Given the description of an element on the screen output the (x, y) to click on. 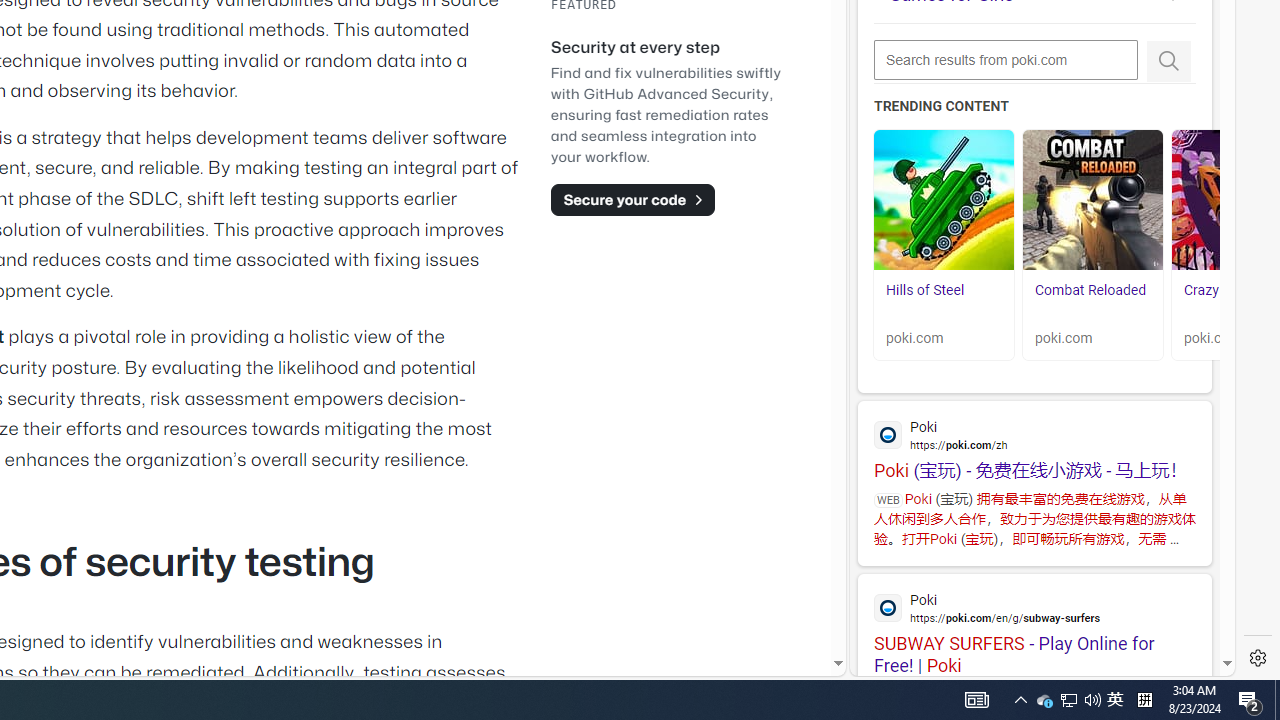
Hills of Steel (943, 200)
Combat Reloaded (1092, 200)
poki.com (1092, 338)
Combat Reloaded (1092, 300)
Hills of Steel (943, 300)
Crazy Cars (1217, 290)
Hills of Steel Hills of Steel poki.com (943, 245)
Combat Reloaded Combat Reloaded poki.com (1092, 245)
Search results from poki.com (1005, 59)
Hills of Steel (925, 290)
Combat Reloaded (1090, 290)
SUBWAY SURFERS - Play Online for Free! | Poki (1034, 624)
Poki (1034, 606)
